Given the description of an element on the screen output the (x, y) to click on. 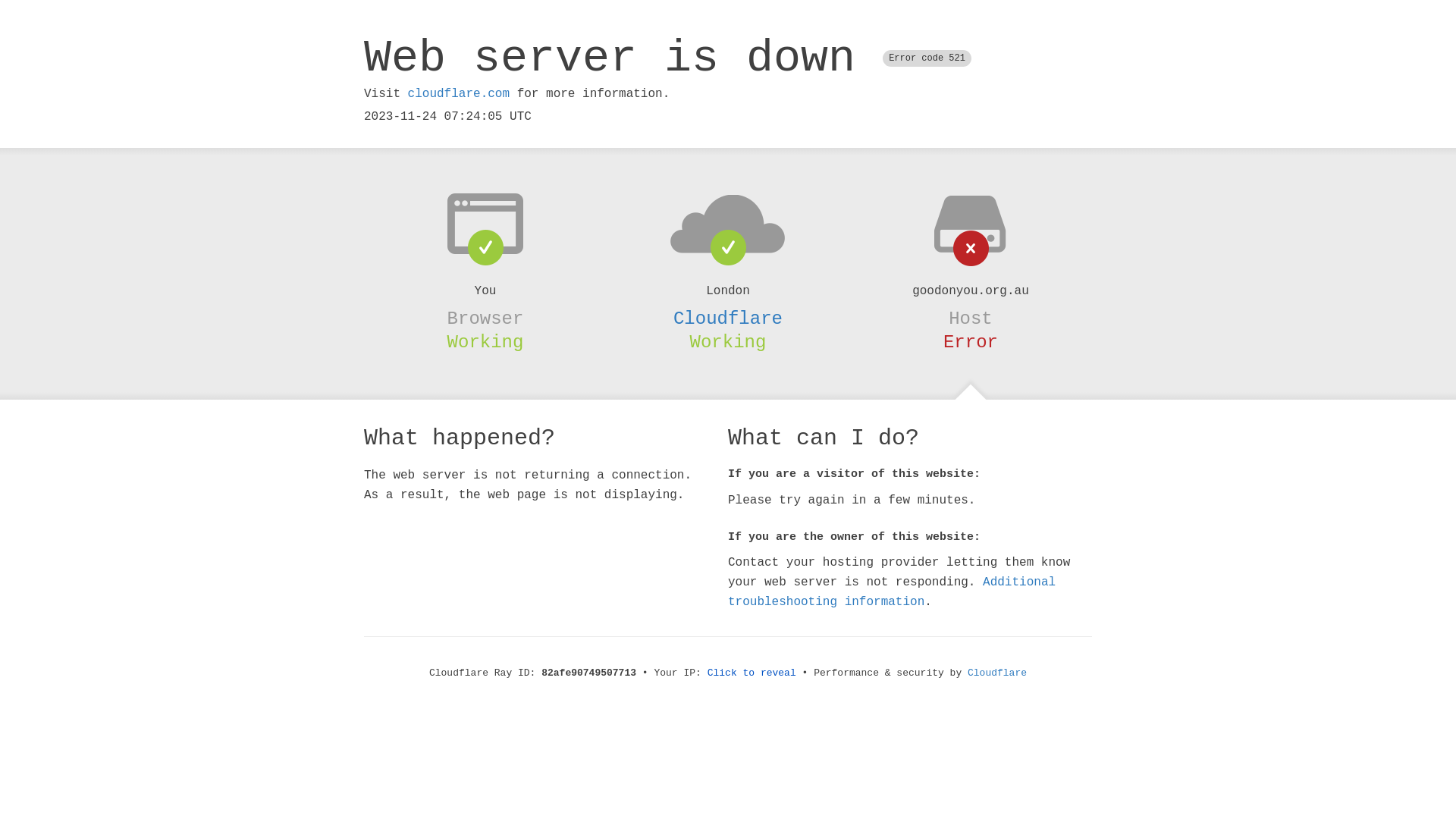
Click to reveal Element type: text (751, 672)
Cloudflare Element type: text (727, 318)
Additional troubleshooting information Element type: text (891, 591)
Cloudflare Element type: text (996, 672)
cloudflare.com Element type: text (458, 93)
